Given the description of an element on the screen output the (x, y) to click on. 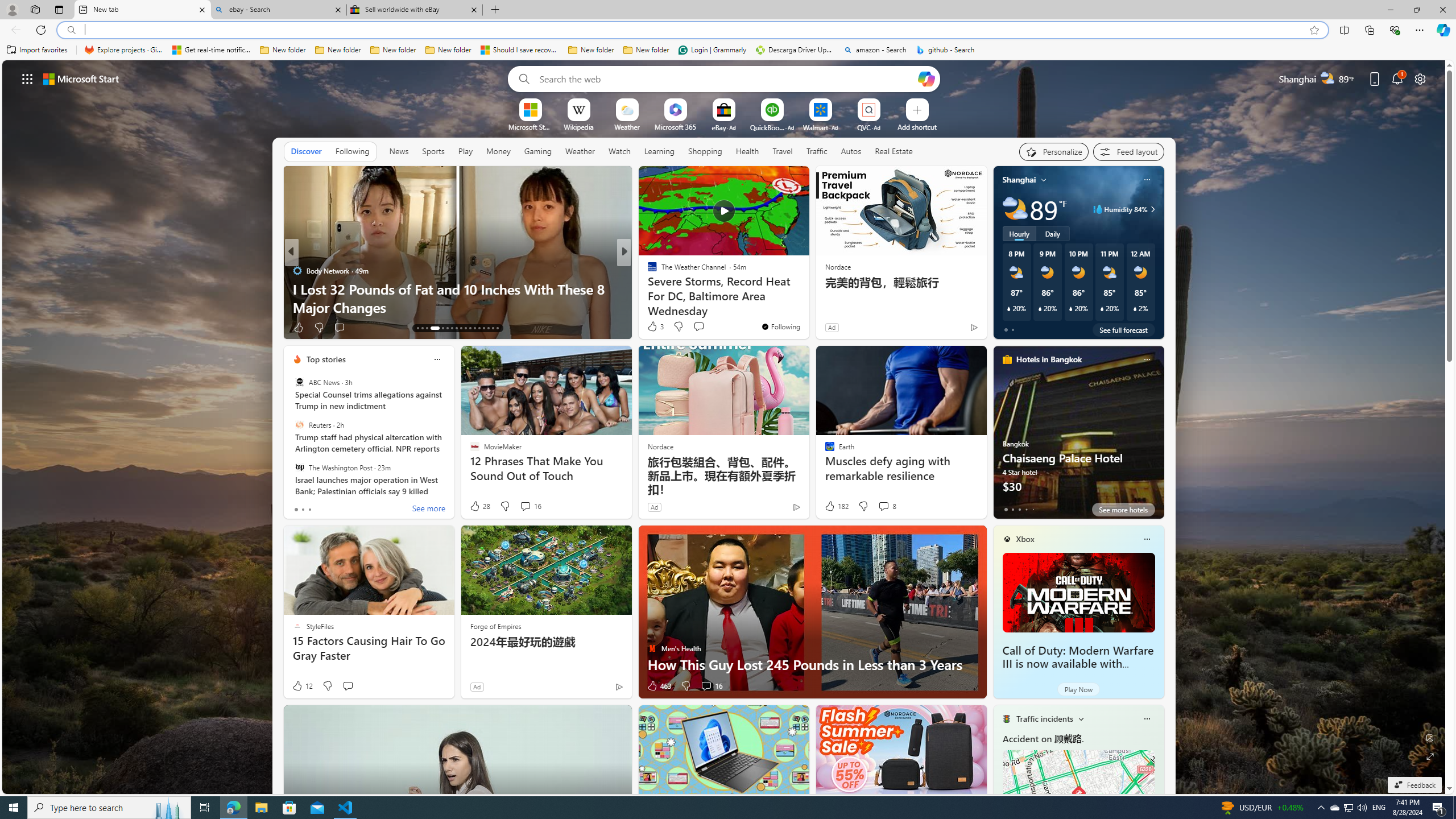
Search (520, 78)
Edit Background (1430, 737)
Personalize your feed" (1054, 151)
ebay - Search (277, 9)
Sell worldwide with eBay (414, 9)
Should I save recovered Word documents? - Microsoft Support (519, 49)
28 Like (479, 505)
Ad Choice (619, 686)
News (398, 151)
Add a site (916, 126)
Partly cloudy (1014, 208)
AutomationID: tab-20 (456, 328)
Change scenarios (1080, 718)
Class: weather-current-precipitation-glyph (1134, 308)
